Given the description of an element on the screen output the (x, y) to click on. 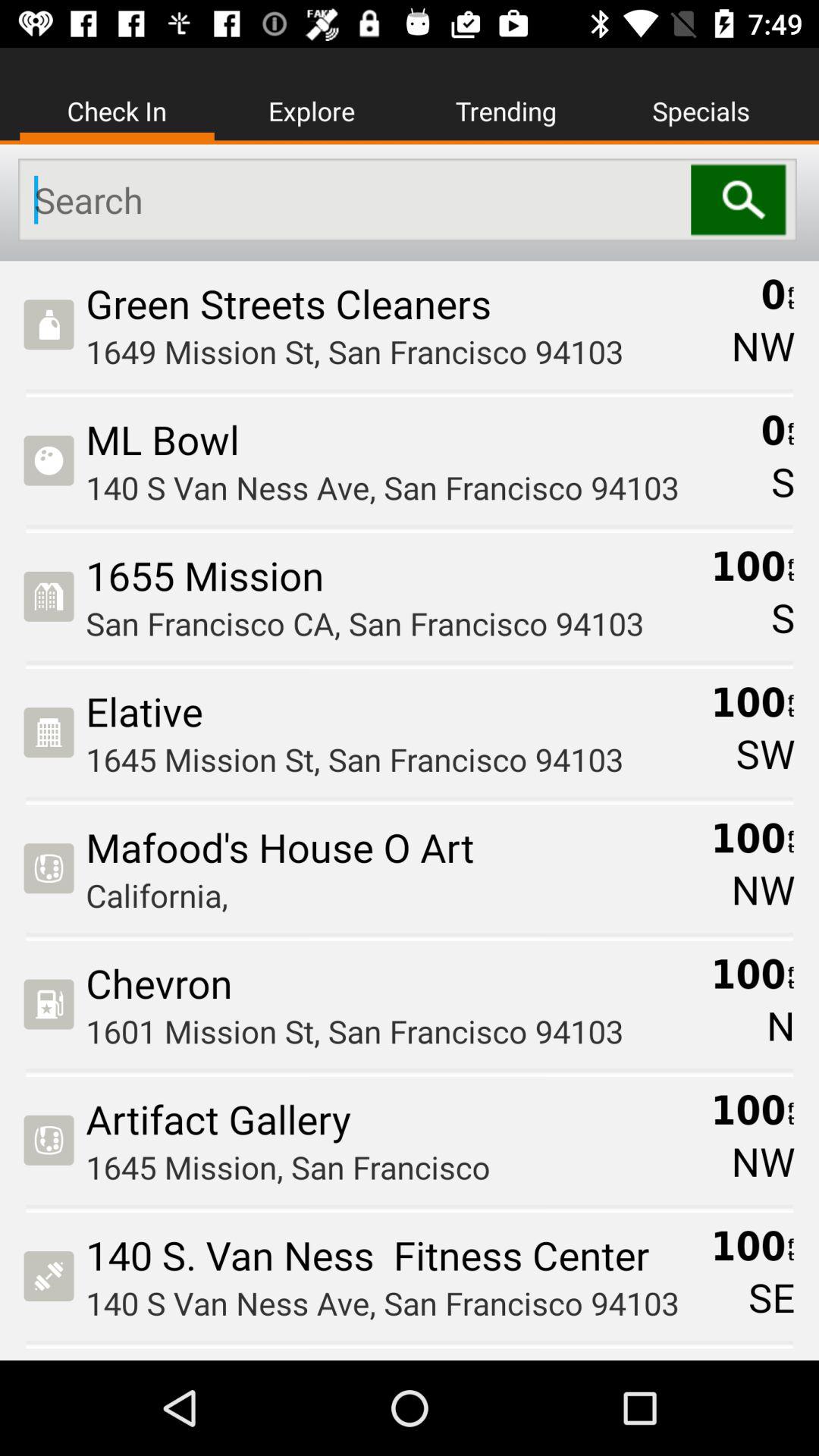
choose the n icon (780, 1024)
